Given the description of an element on the screen output the (x, y) to click on. 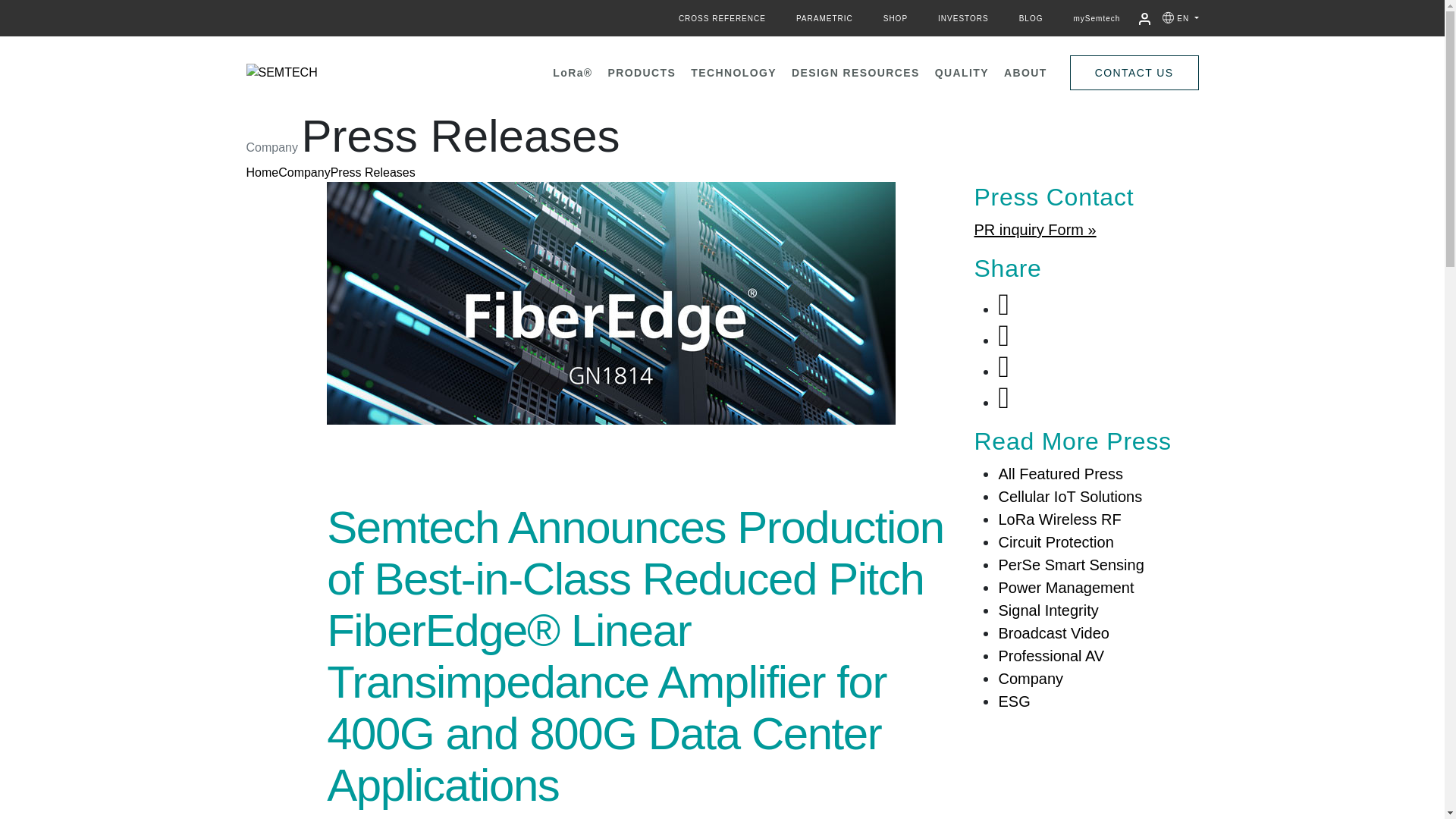
INVESTORS (963, 17)
mySemtech (1096, 18)
PARAMETRIC (823, 17)
smtc (329, 72)
BLOG (1031, 17)
CROSS REFERENCE (721, 17)
EN (1187, 17)
SHOP (895, 17)
